Given the description of an element on the screen output the (x, y) to click on. 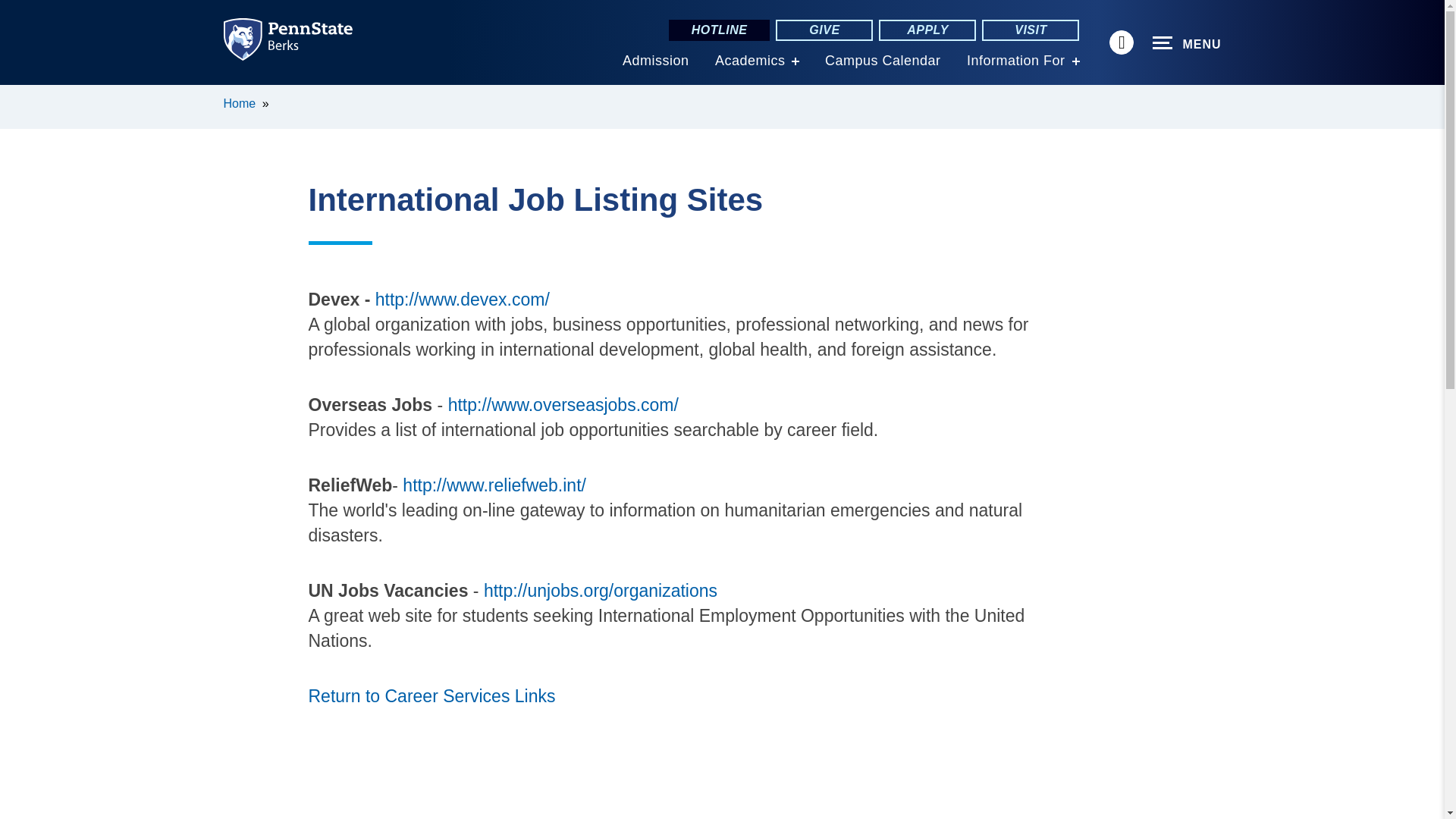
UN Jobs (600, 590)
Career Services Links (430, 695)
Academics (750, 60)
Admission (655, 60)
Information For (1015, 60)
VISIT (1029, 29)
Campus Calendar (882, 60)
SKIP TO MAIN CONTENT (19, 95)
MENU (1187, 43)
HOTLINE (719, 29)
GIVE (824, 29)
APPLY (927, 29)
